Given the description of an element on the screen output the (x, y) to click on. 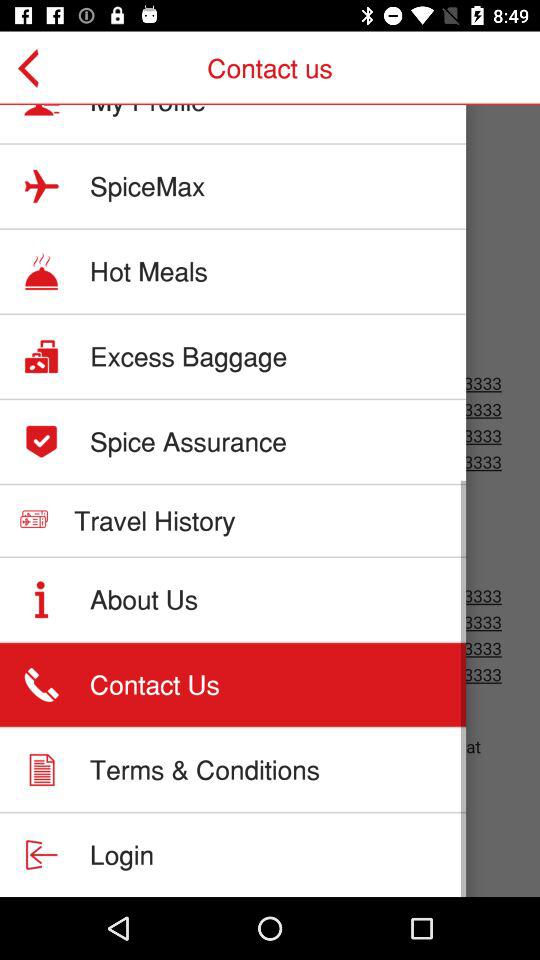
launch the item above the about us (154, 520)
